Given the description of an element on the screen output the (x, y) to click on. 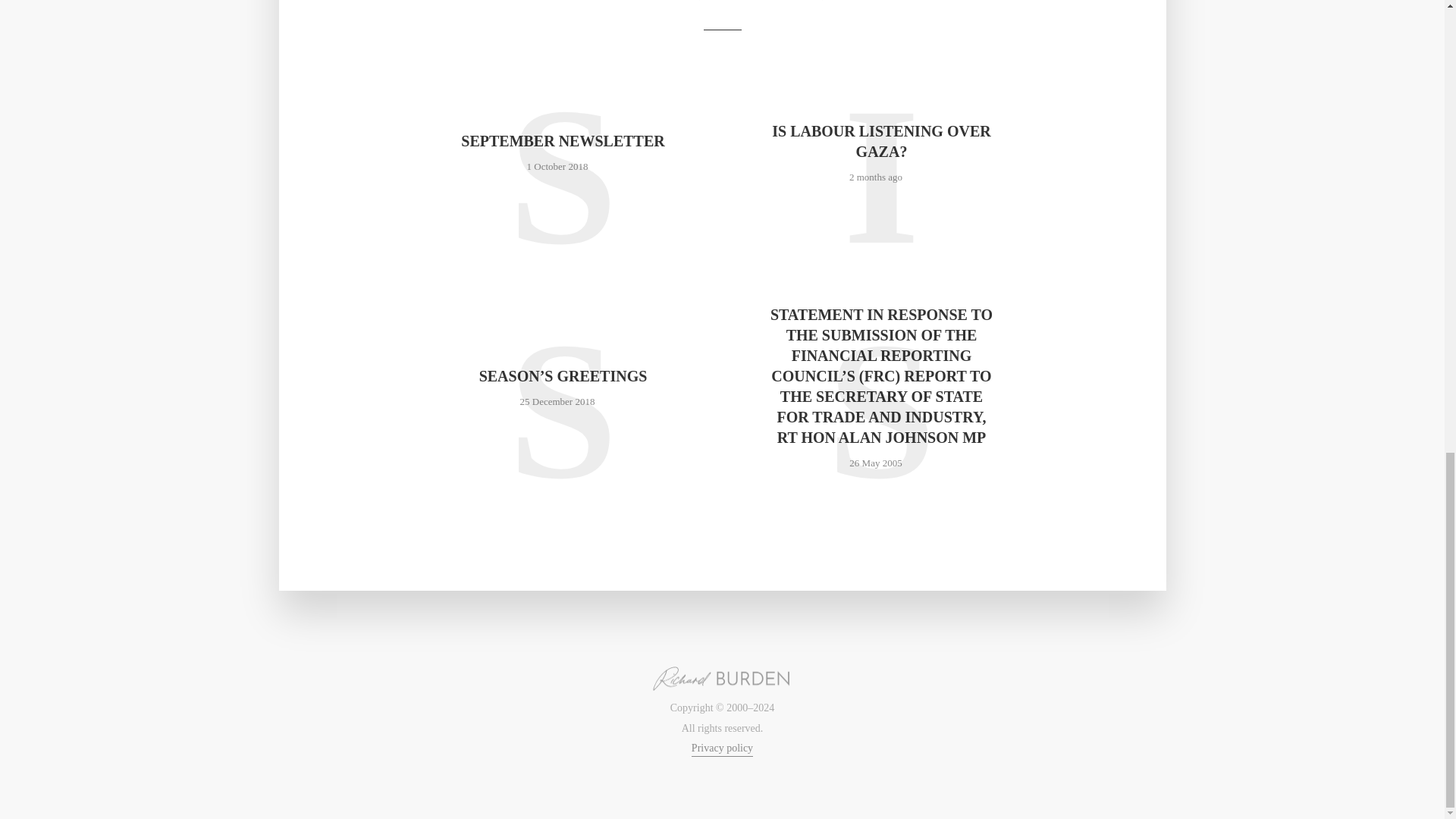
IS LABOUR LISTENING OVER GAZA? (880, 141)
SEPTEMBER NEWSLETTER (562, 141)
Privacy policy (721, 749)
